Given the description of an element on the screen output the (x, y) to click on. 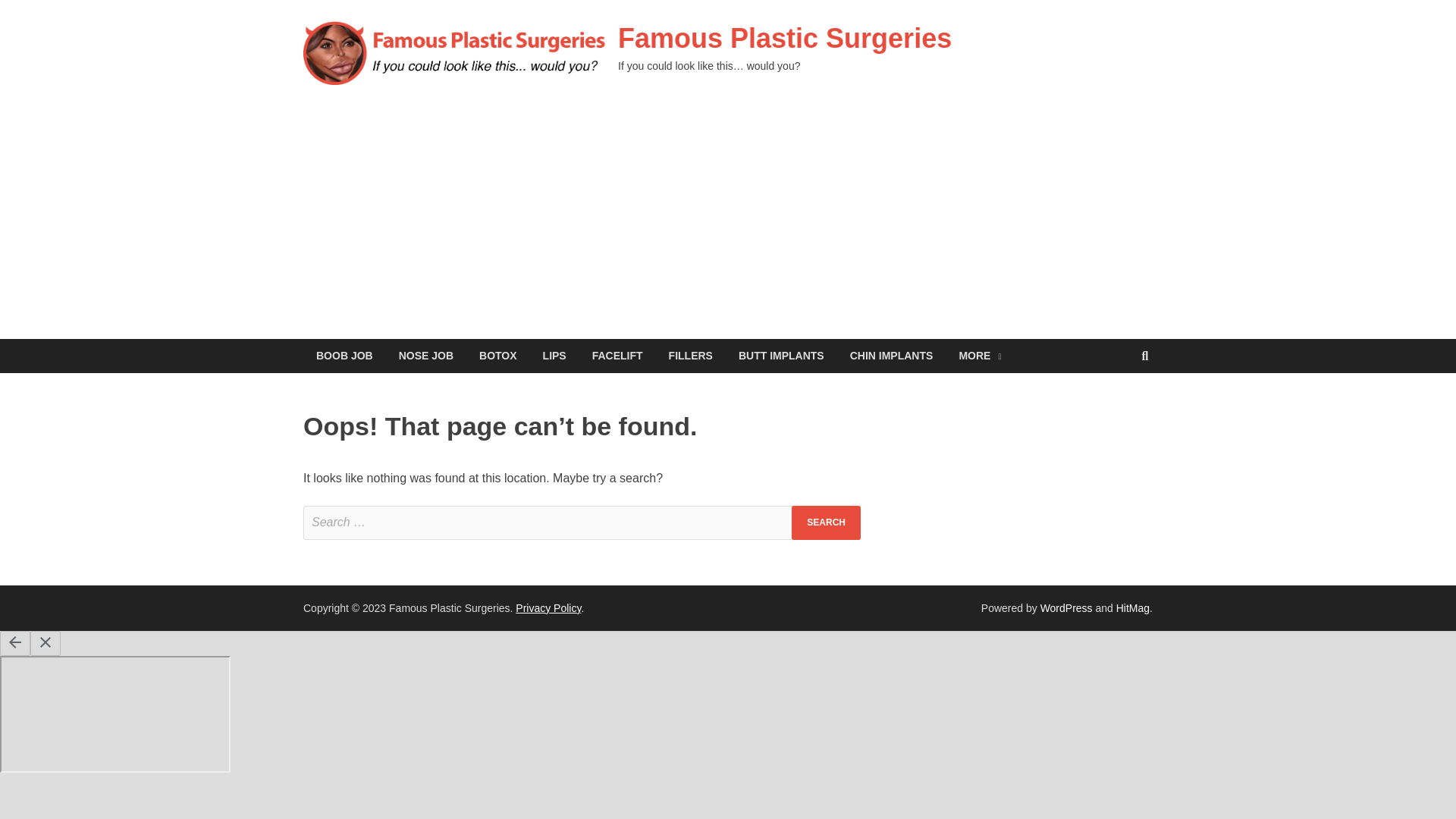
WordPress (1067, 607)
Search (826, 522)
LIPS (554, 356)
FILLERS (690, 356)
WordPress (1067, 607)
Famous Plastic Surgeries (784, 38)
HitMag WordPress Theme (1133, 607)
BOTOX (497, 356)
BUTT IMPLANTS (781, 356)
FACELIFT (617, 356)
CHIN IMPLANTS (891, 356)
MORE (978, 356)
BOOB JOB (343, 356)
Search (826, 522)
NOSE JOB (425, 356)
